Given the description of an element on the screen output the (x, y) to click on. 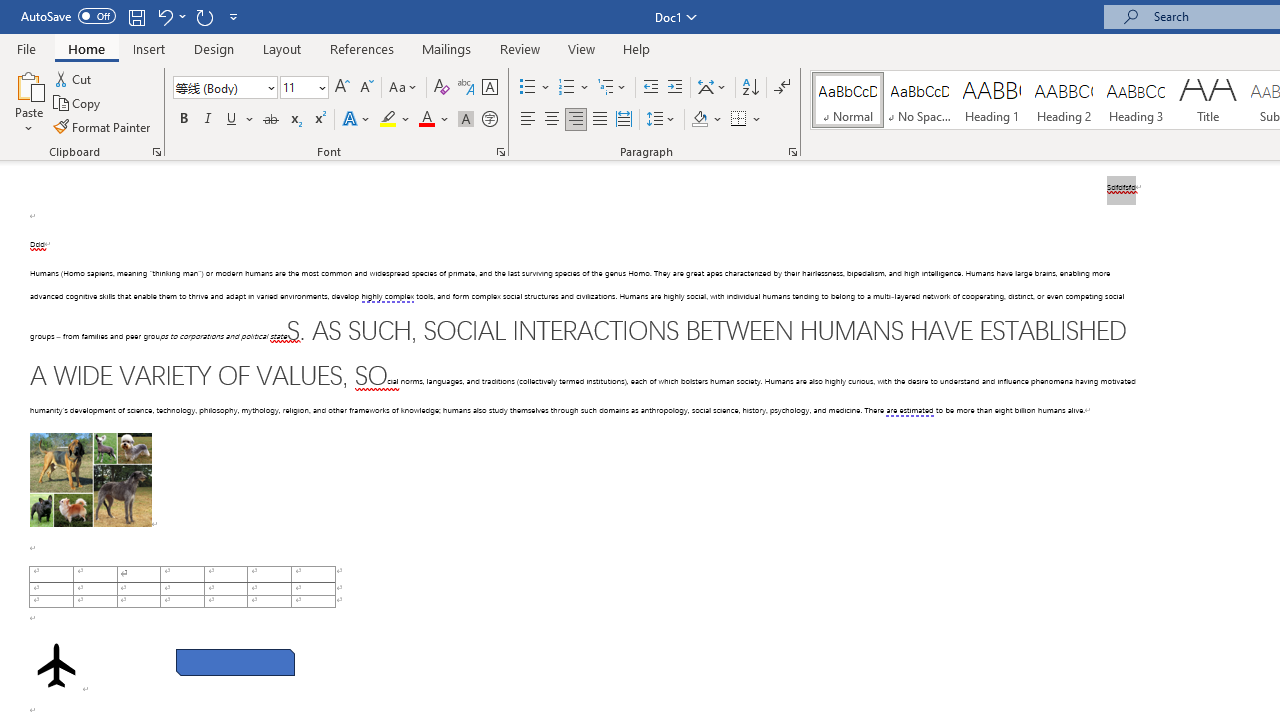
Increase Indent (675, 87)
Format Painter (103, 126)
Justify (599, 119)
Grow Font (342, 87)
Rectangle: Diagonal Corners Snipped 2 (235, 662)
Airplane with solid fill (56, 665)
